Given the description of an element on the screen output the (x, y) to click on. 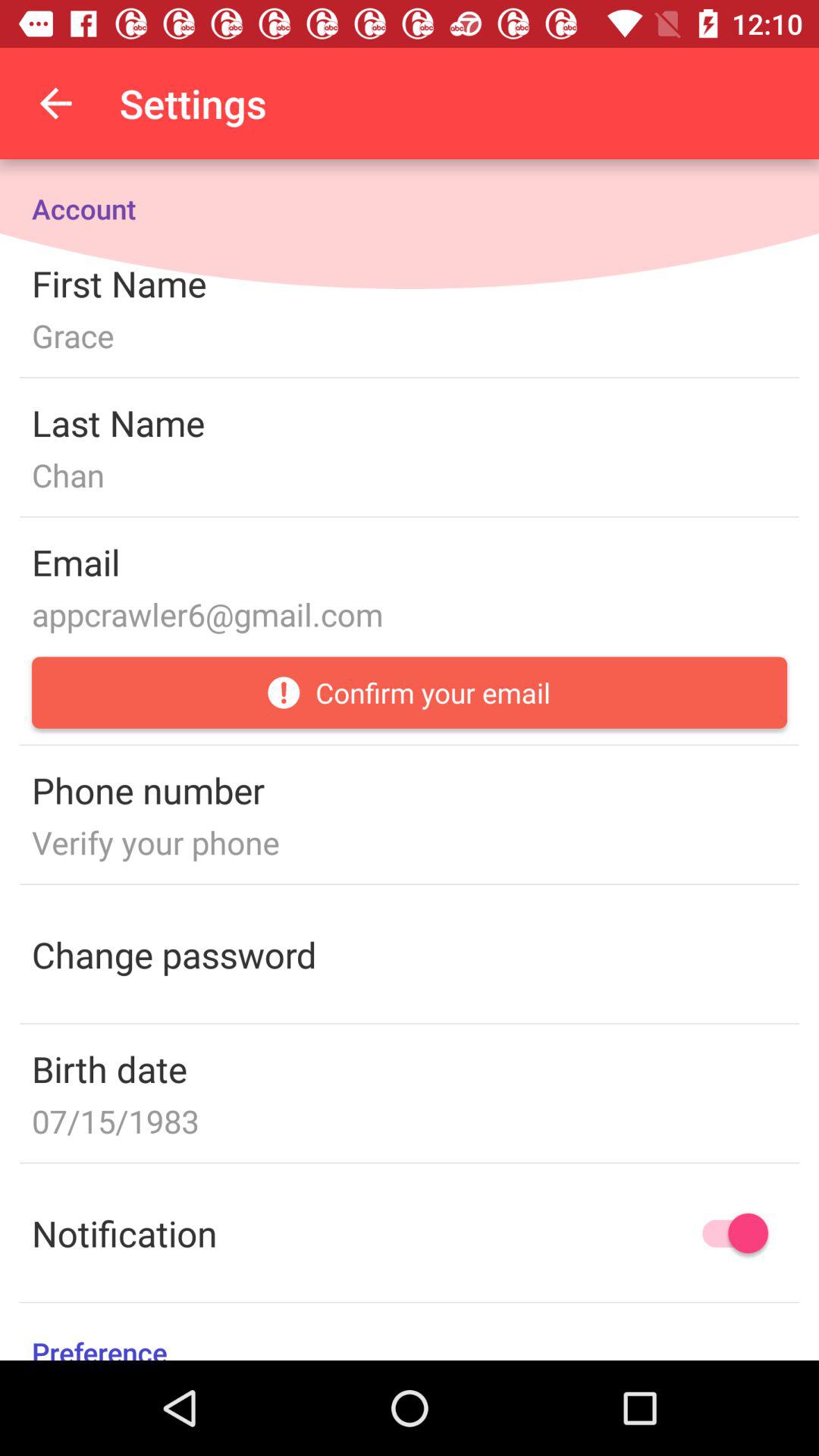
select the item next to settings (55, 103)
